Given the description of an element on the screen output the (x, y) to click on. 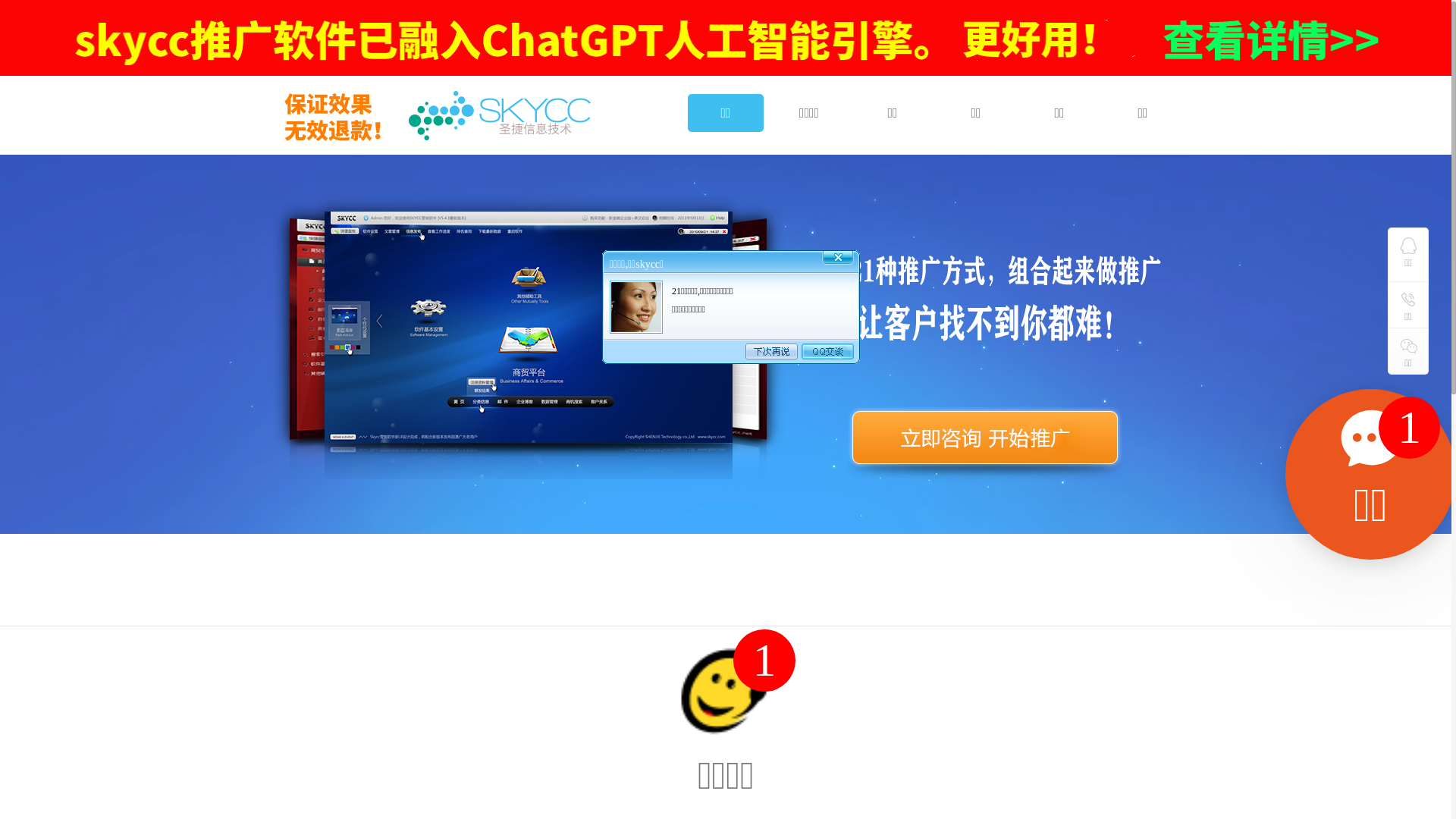
1 Element type: text (1409, 427)
